Given the description of an element on the screen output the (x, y) to click on. 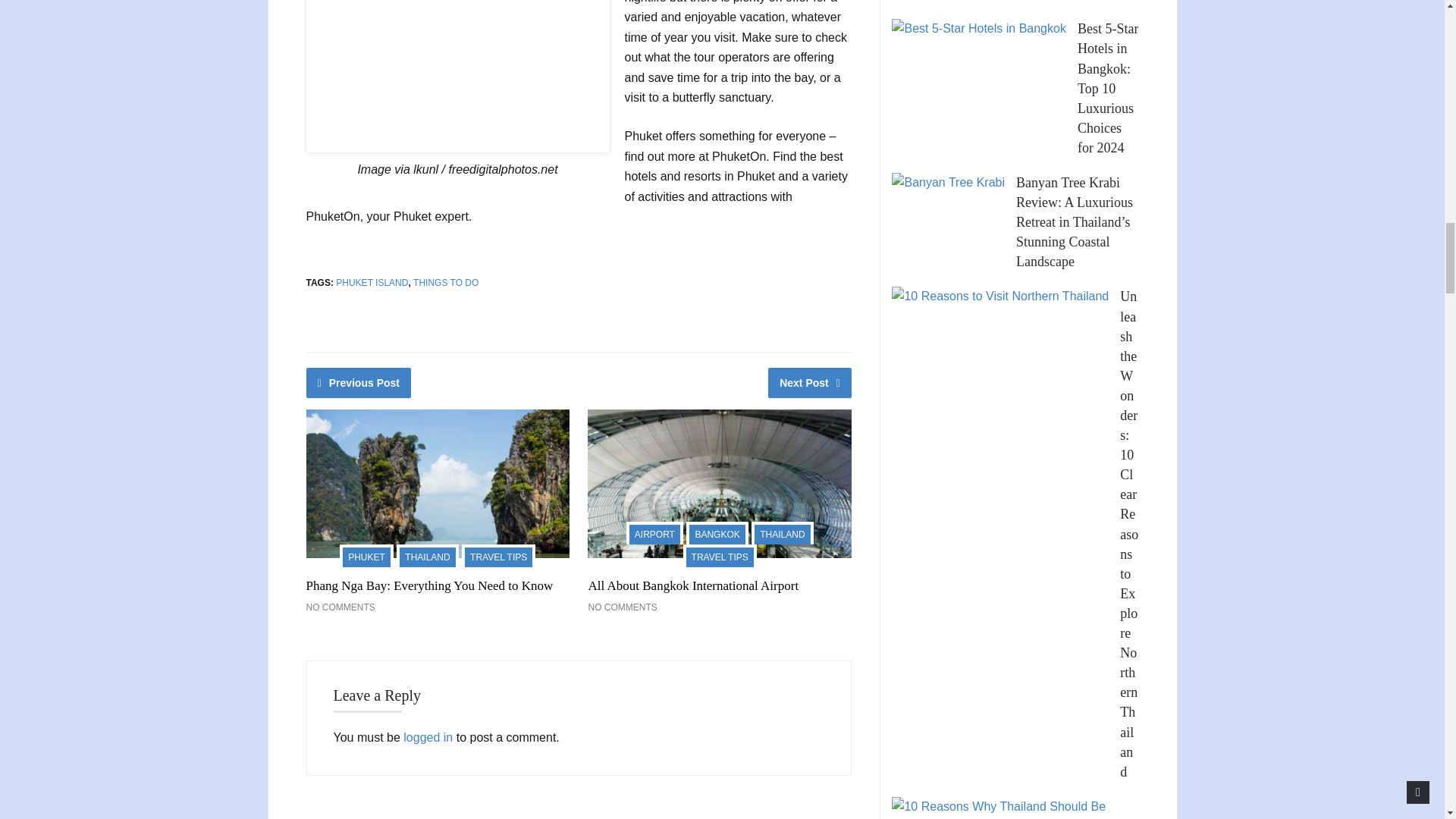
Next Post (809, 382)
NO COMMENTS (340, 606)
Previous Post (358, 382)
THAILAND (781, 532)
Phang Nga Bay: Everything You Need to Know (429, 585)
AIRPORT (654, 532)
PHUKET ISLAND (371, 282)
All About Bangkok International Airport (692, 585)
BANGKOK (716, 532)
logged in (427, 737)
NO COMMENTS (622, 606)
TRAVEL TIPS (498, 555)
PHUKET (366, 555)
THAILAND (427, 555)
Phuket Mini-Guide: Shopping, Sightseeing and Attractions 2 (457, 76)
